Given the description of an element on the screen output the (x, y) to click on. 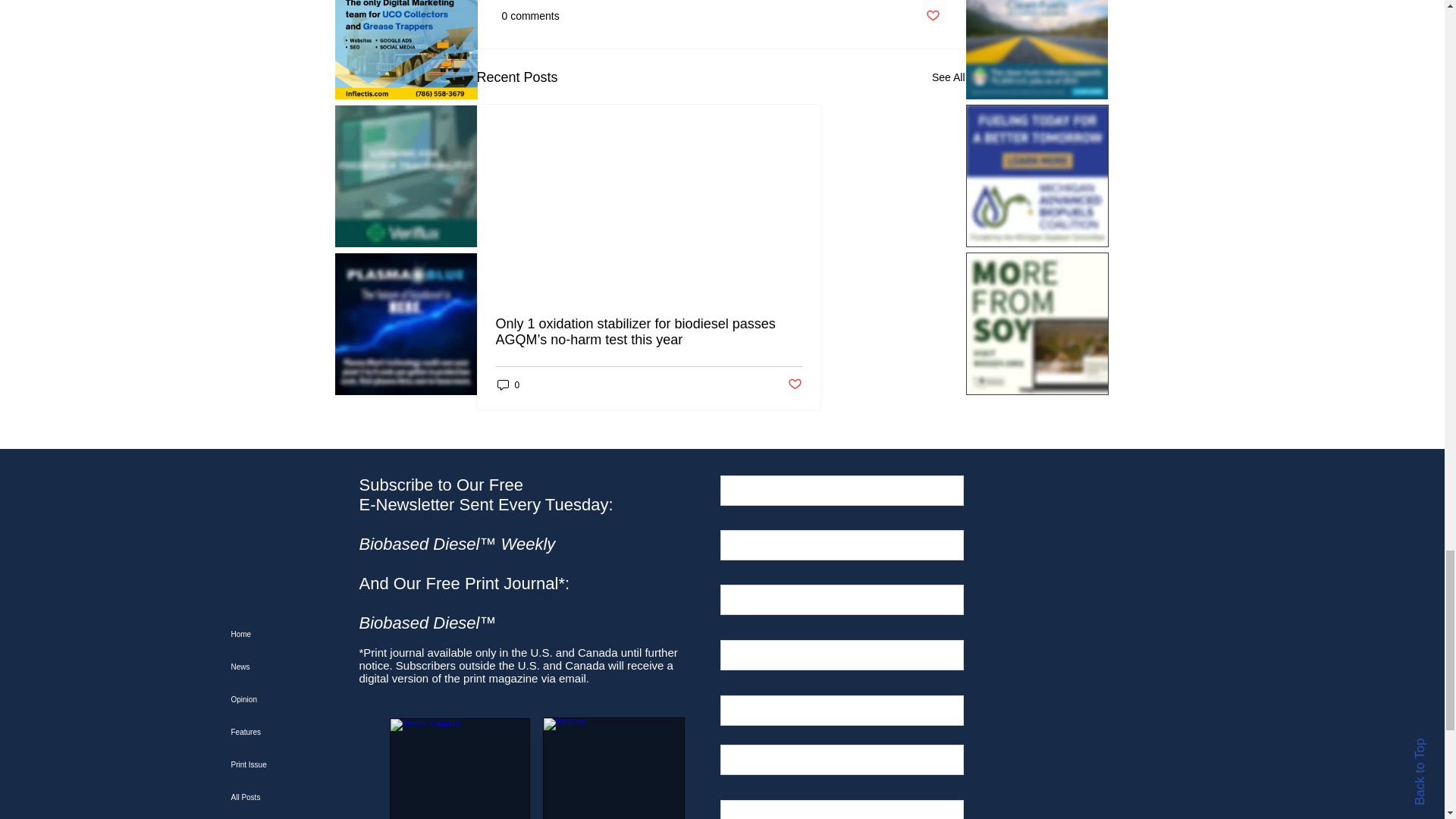
Clean Fuels Alliance America (1037, 49)
0 (508, 384)
See All (948, 77)
Inflectis Digital Marketing  (405, 49)
Plasma Blue (405, 323)
Post not marked as liked (931, 16)
Post not marked as liked (794, 384)
Veriflux (405, 176)
